Given the description of an element on the screen output the (x, y) to click on. 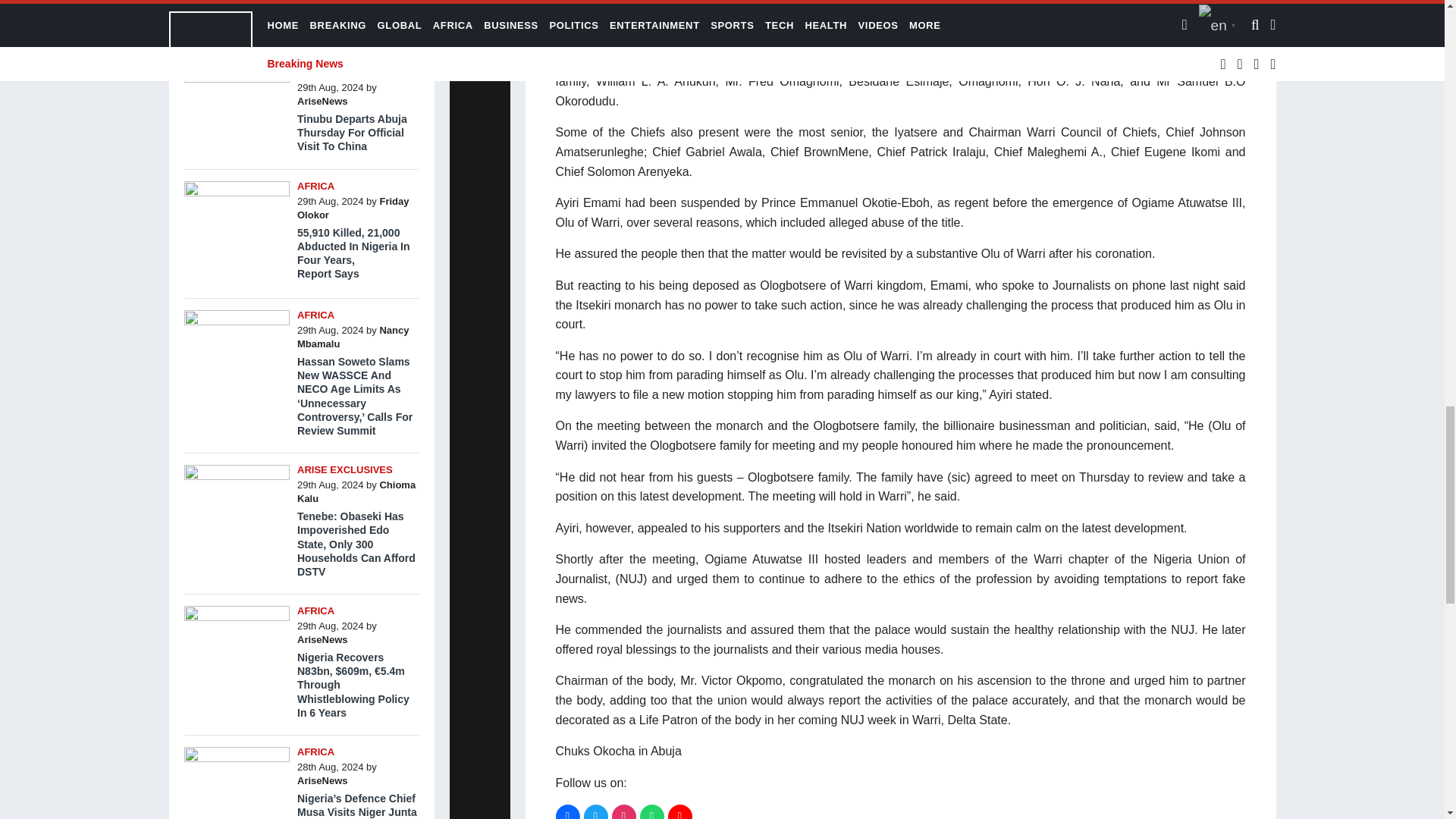
Facebook (566, 811)
Instagram (622, 811)
WhatsApp (651, 811)
Twitter (595, 811)
